Given the description of an element on the screen output the (x, y) to click on. 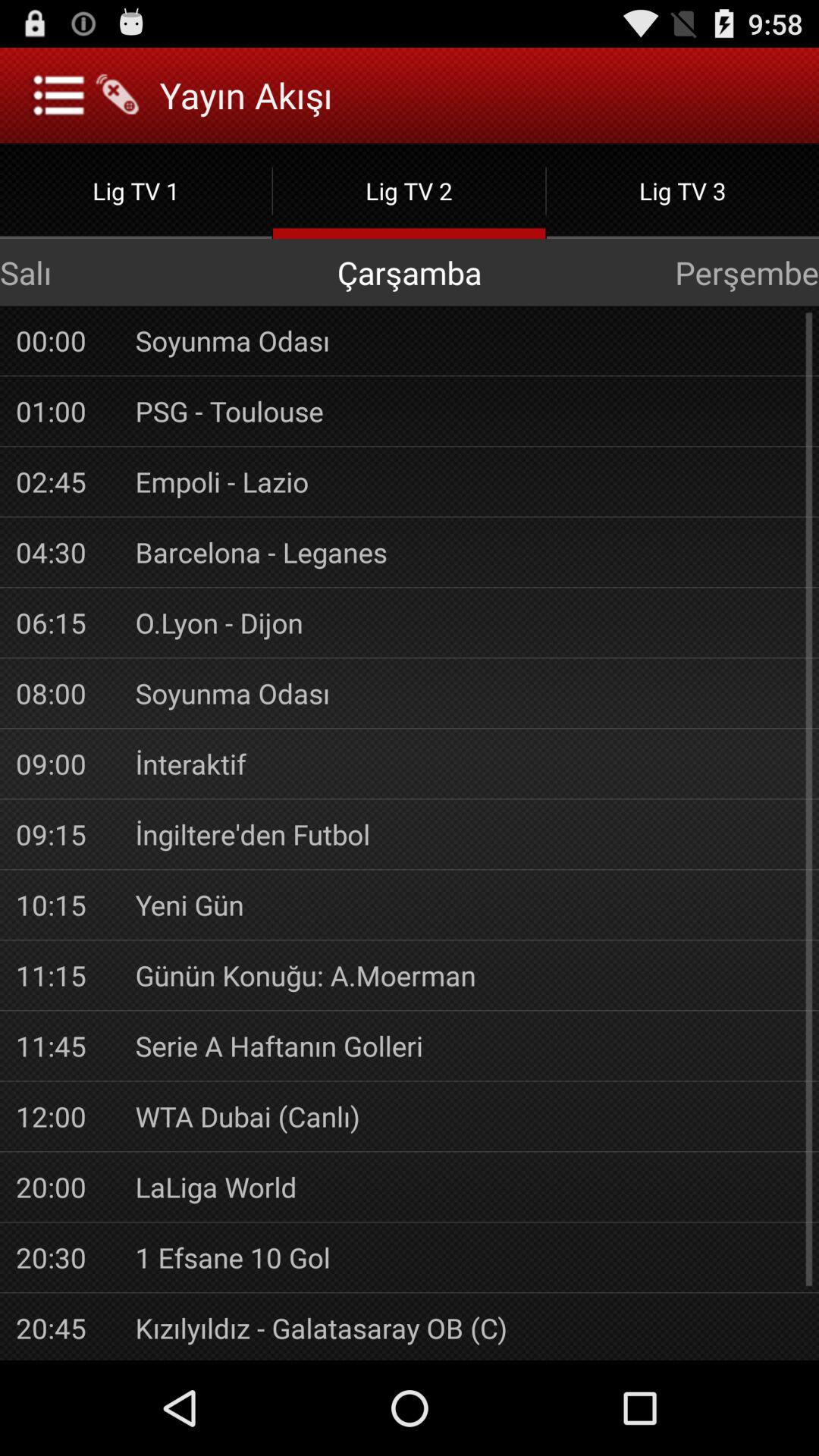
turn off the item below the empoli - lazio app (469, 552)
